Given the description of an element on the screen output the (x, y) to click on. 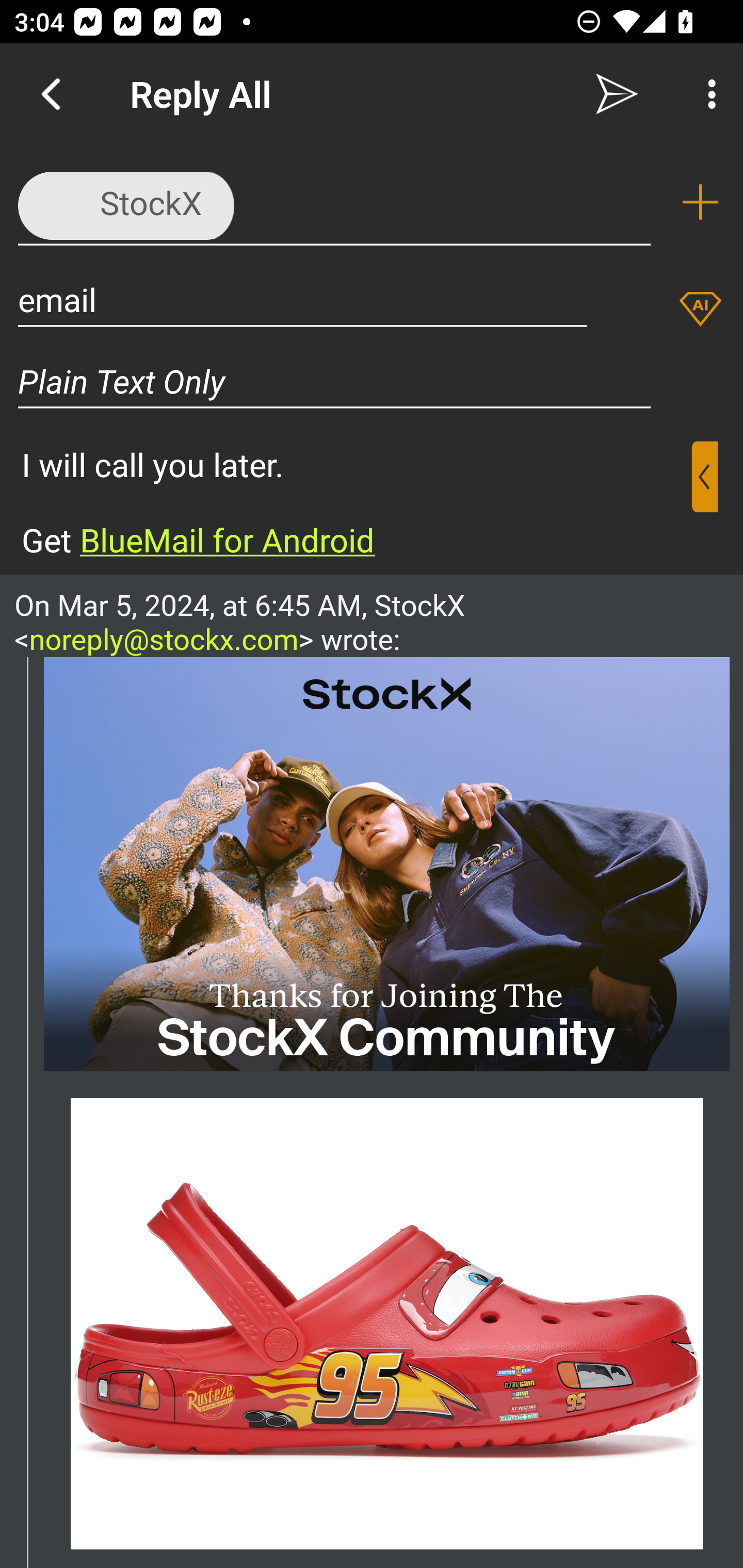
Navigate up (50, 93)
Send (616, 93)
More Options (706, 93)
StockX <noreply@stockx.com>,  (334, 201)
Add recipient (To) (699, 201)
email (302, 299)
Plain Text Only (334, 380)
noreply@stockx.com (163, 638)
click?upn=u001 (387, 863)
Crocs Classic Clog Lightning McQueen (386, 1323)
